Given the description of an element on the screen output the (x, y) to click on. 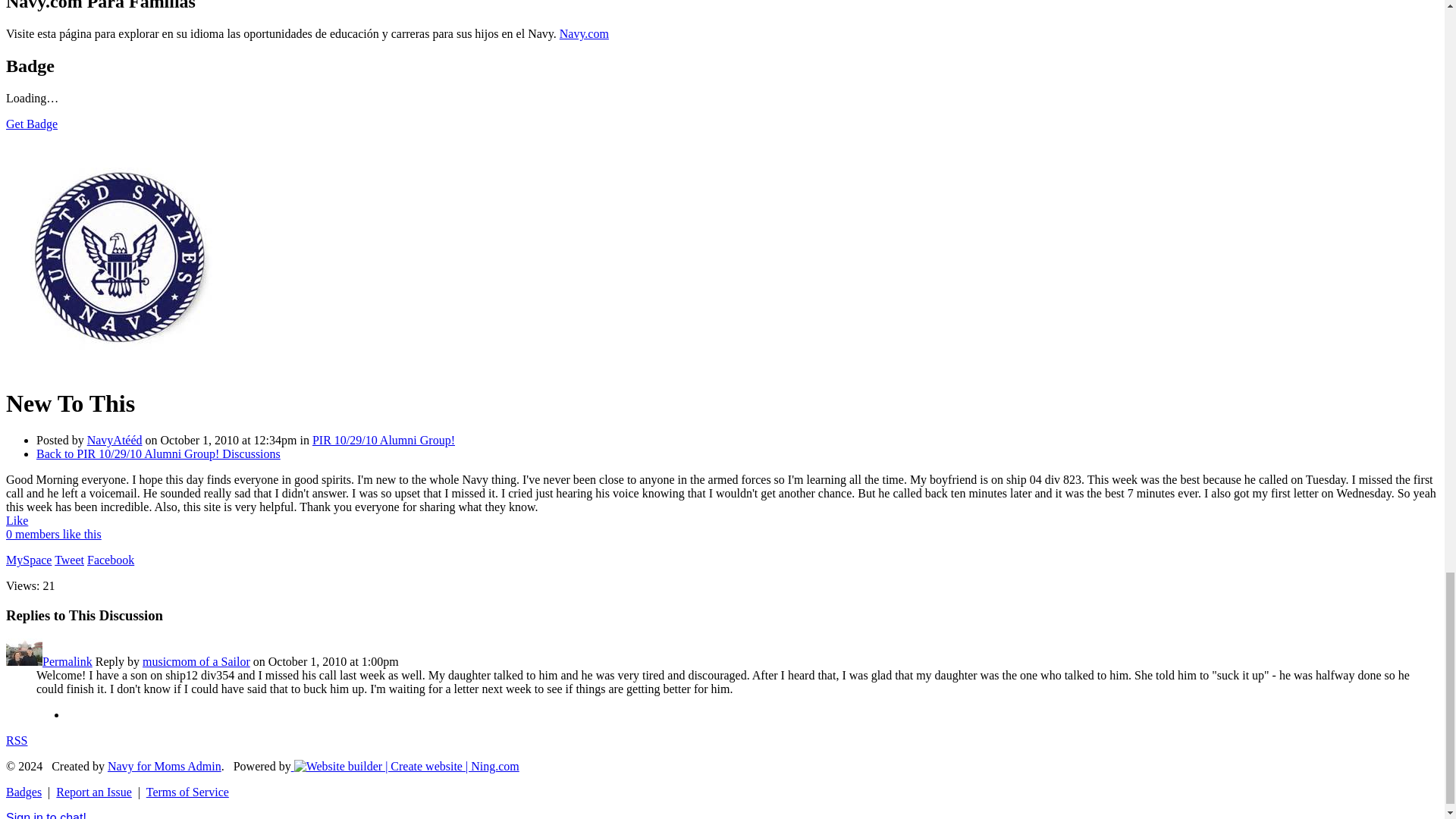
Permalink to this Reply (67, 661)
musicmom of a Sailor (23, 661)
Ning Website Builder (406, 766)
